Given the description of an element on the screen output the (x, y) to click on. 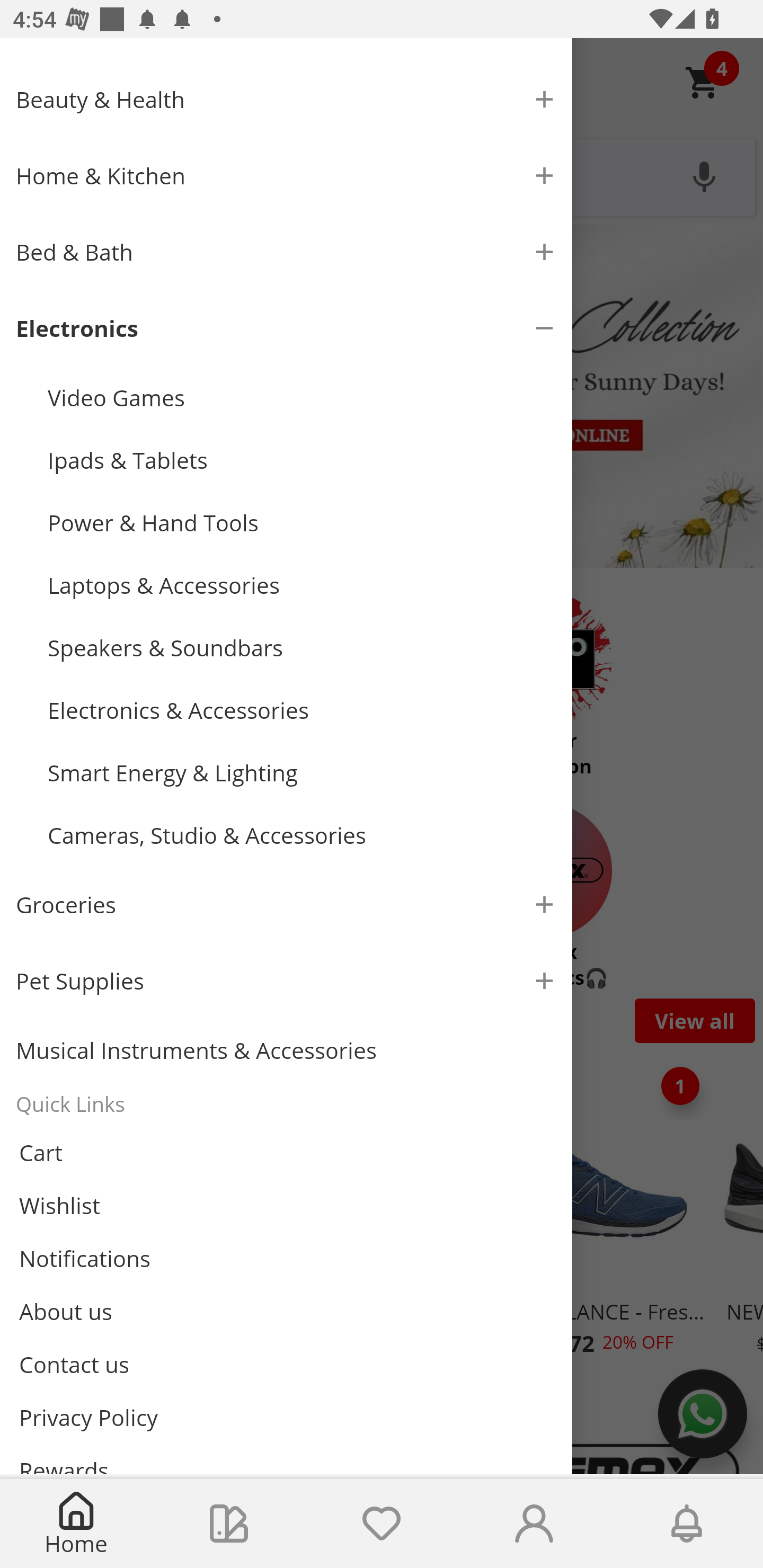
Beauty & Health (286, 99)
Home & Kitchen (286, 175)
Bed & Bath (286, 251)
Video Games (302, 397)
Ipads & Tablets (302, 460)
Power & Hand Tools (302, 522)
Laptops & Accessories (302, 584)
Speakers & Soundbars (302, 647)
Electronics & Accessories (302, 709)
Smart Energy & Lighting (302, 772)
Cameras, Studio & Accessories (302, 835)
Groceries (286, 904)
Pet Supplies (286, 980)
Musical Instruments & Accessories (286, 1050)
Cart (286, 1152)
Wishlist (286, 1205)
Notifications (286, 1258)
About us (286, 1311)
Contact us (286, 1363)
Privacy Policy (286, 1417)
Collections (228, 1523)
Wishlist (381, 1523)
Account (533, 1523)
Notifications (686, 1523)
